Given the description of an element on the screen output the (x, y) to click on. 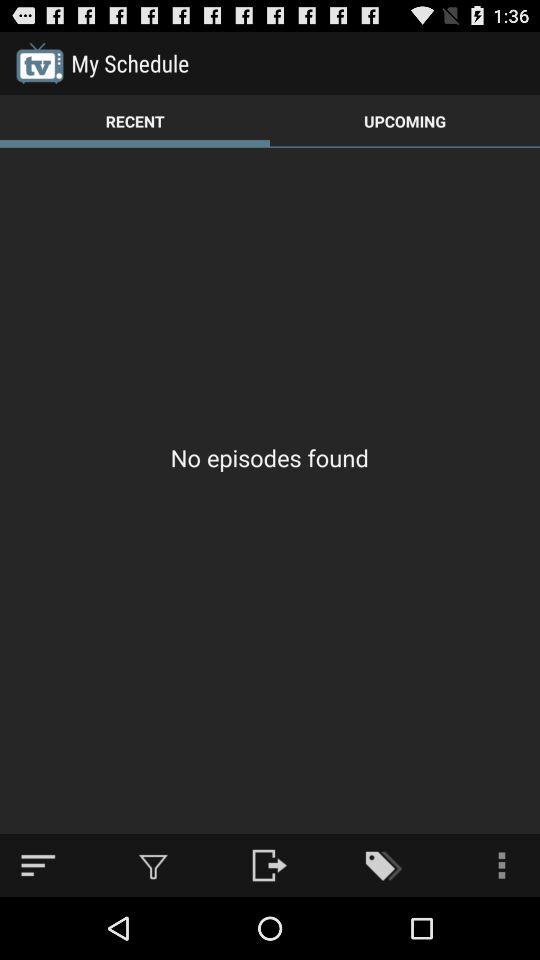
turn off icon to the right of the recent item (405, 120)
